Given the description of an element on the screen output the (x, y) to click on. 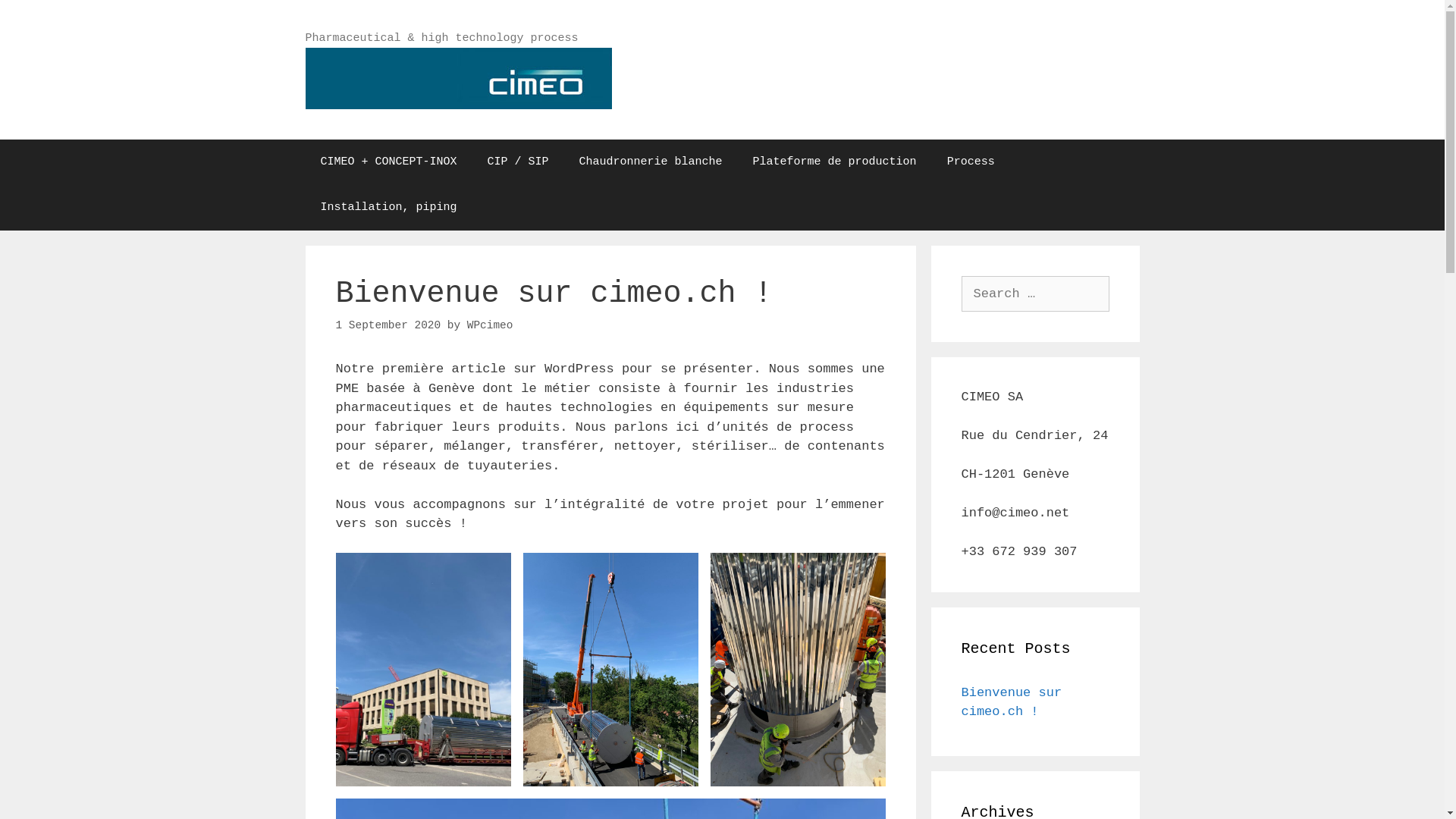
Chaudronnerie blanche Element type: text (650, 162)
Plateforme de production Element type: text (834, 162)
WPcimeo Element type: text (490, 325)
1 September 2020 Element type: text (387, 325)
Search Element type: text (39, 18)
CIMEO Element type: hover (457, 77)
CIMEO + CONCEPT-INOX Element type: text (387, 162)
CIP / SIP Element type: text (518, 162)
Bienvenue sur cimeo.ch ! Element type: text (1011, 702)
CIMEO Element type: hover (457, 77)
Skip to content Element type: text (0, 0)
Search for: Element type: hover (1035, 294)
Installation, piping Element type: text (387, 207)
Process Element type: text (970, 162)
